Given the description of an element on the screen output the (x, y) to click on. 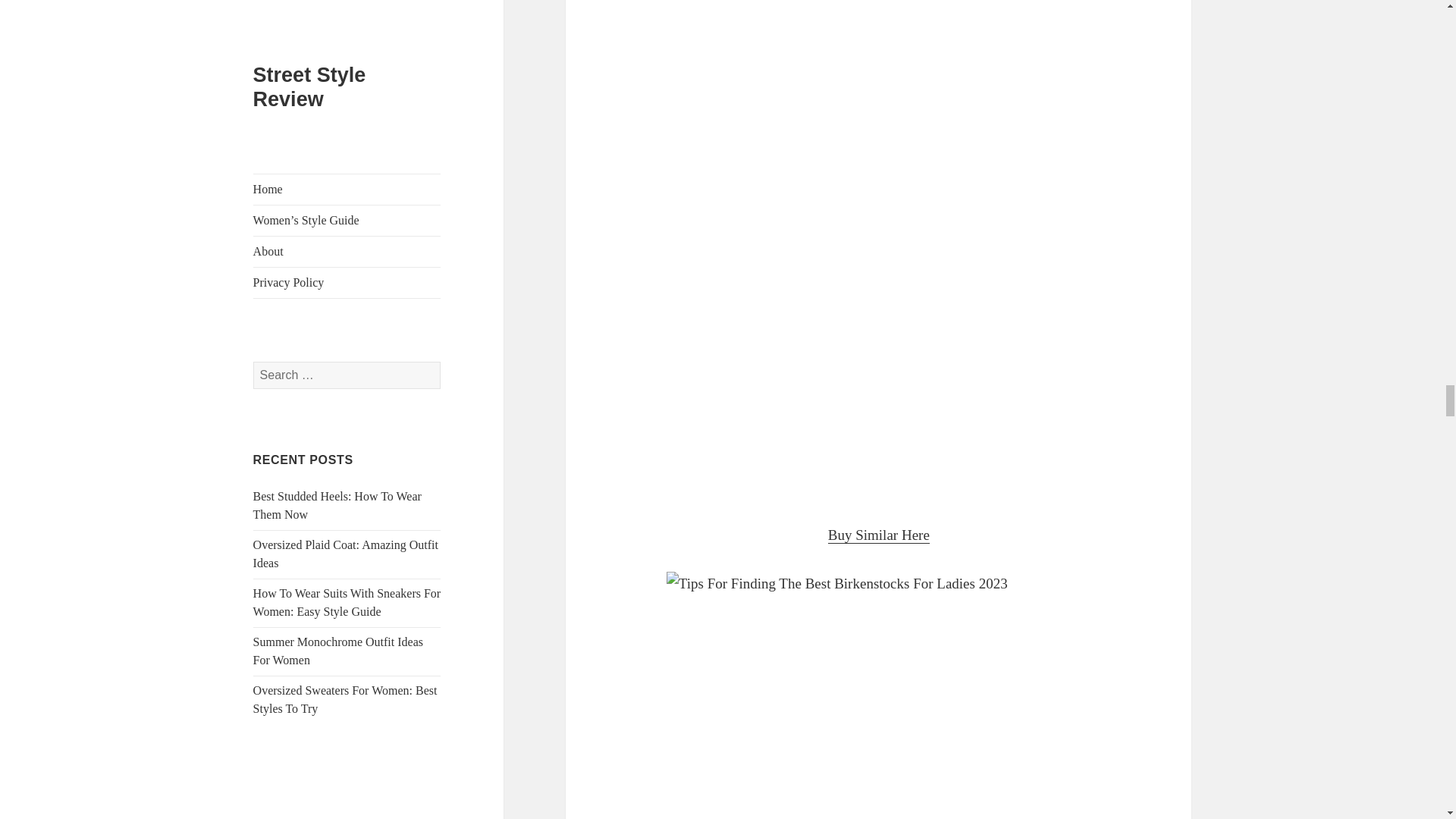
Buy Similar Here (879, 535)
Tips For Finding The Best Birkenstocks For Ladies 2023 (878, 695)
